Given the description of an element on the screen output the (x, y) to click on. 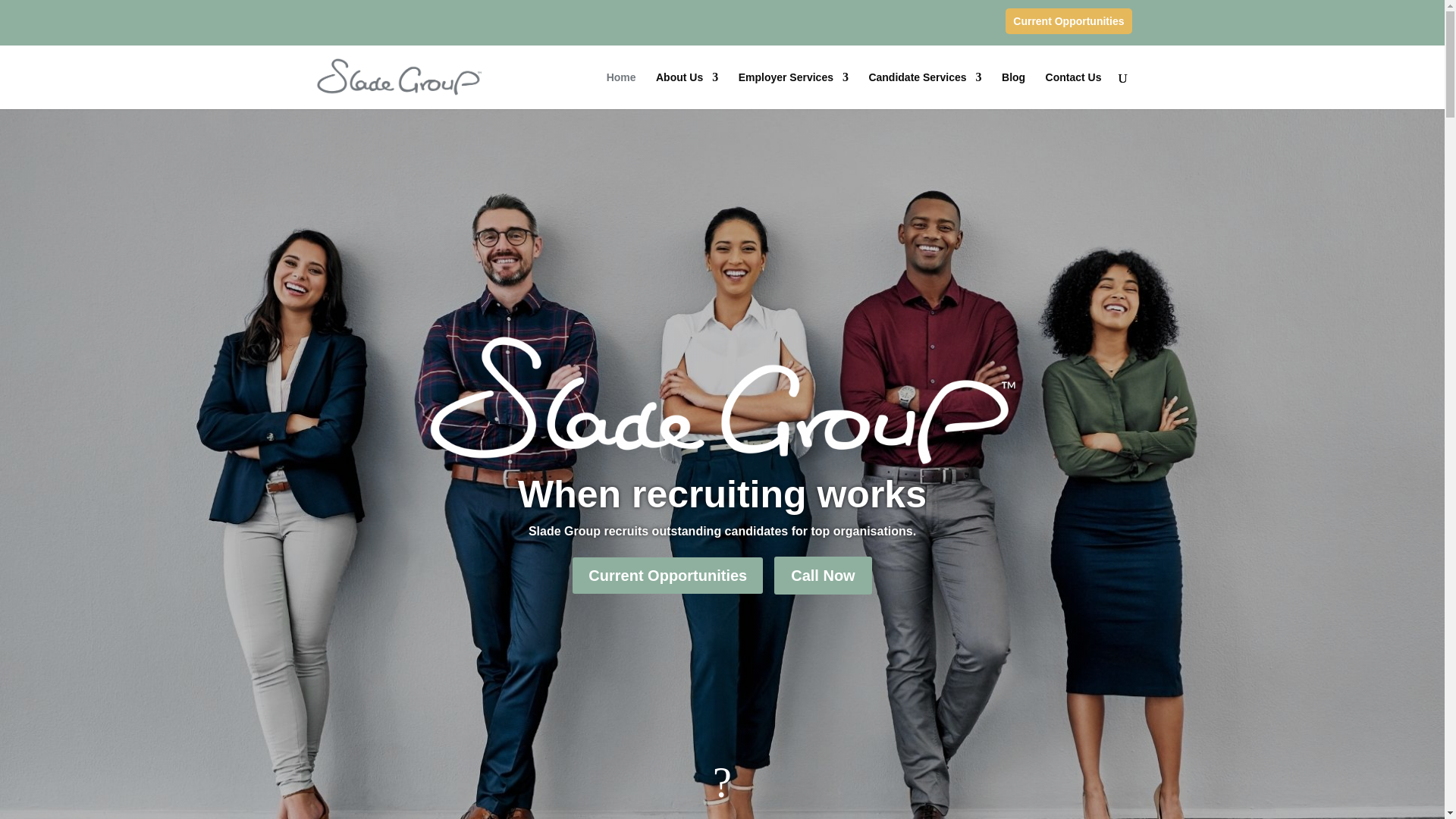
Employer Services (793, 89)
Home (621, 89)
? (722, 782)
? (722, 782)
About Us (686, 89)
Blog (1013, 89)
Current Opportunities (1068, 20)
Contact Us (1073, 89)
Candidate Services (924, 89)
